Given the description of an element on the screen output the (x, y) to click on. 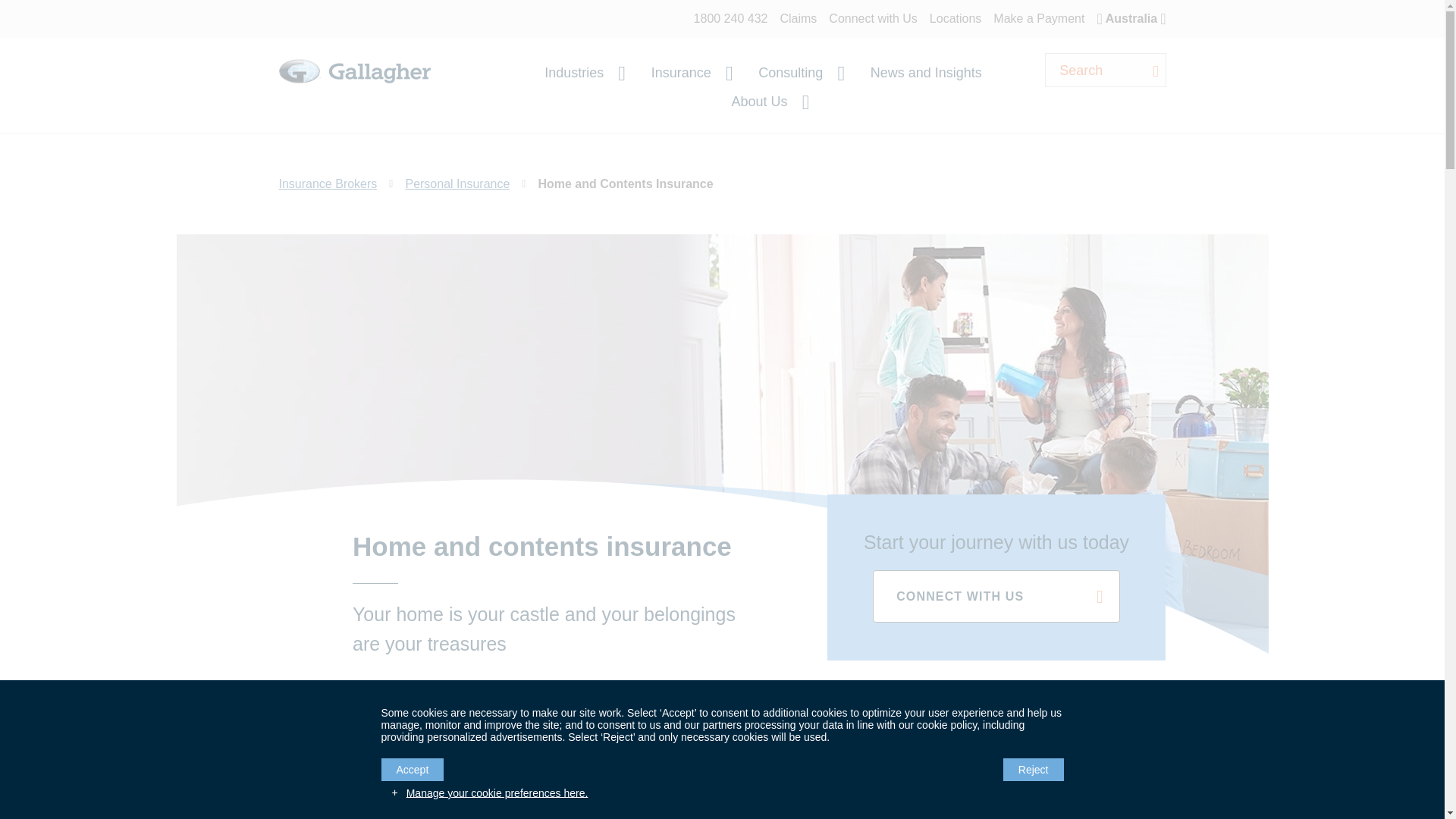
1800 240 432 (731, 18)
Locations (955, 18)
Claims (797, 18)
Gallagher Australia (354, 89)
Make a Payment (1038, 18)
Industries (583, 72)
Connect with Us (872, 18)
